Given the description of an element on the screen output the (x, y) to click on. 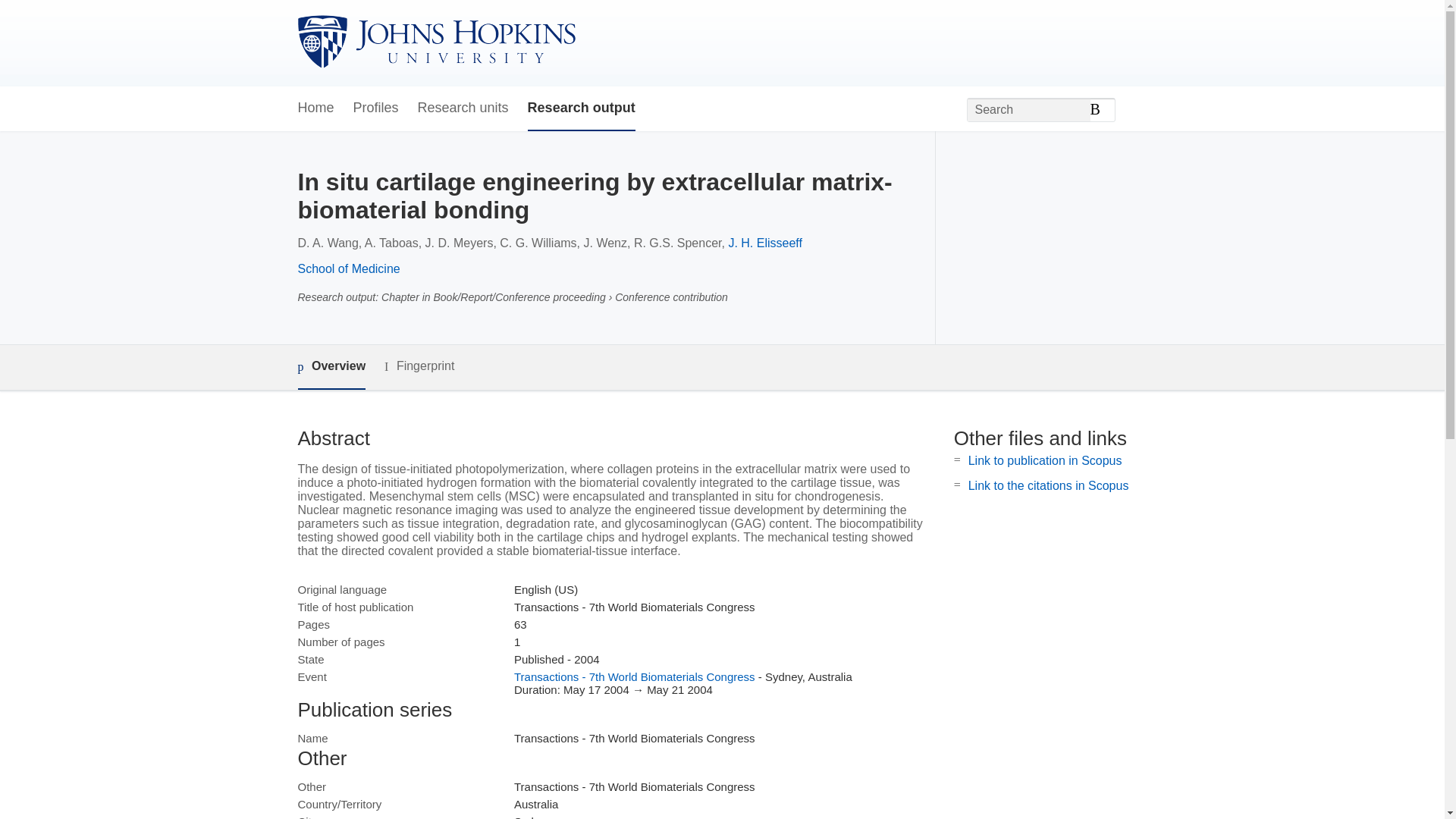
Overview (331, 366)
Research units (462, 108)
Fingerprint (419, 366)
Profiles (375, 108)
J. H. Elisseeff (765, 242)
Research output (580, 108)
Link to the citations in Scopus (1048, 485)
Transactions - 7th World Biomaterials Congress (634, 676)
Link to publication in Scopus (1045, 460)
Home (315, 108)
Johns Hopkins University Home (436, 43)
School of Medicine (347, 268)
